Given the description of an element on the screen output the (x, y) to click on. 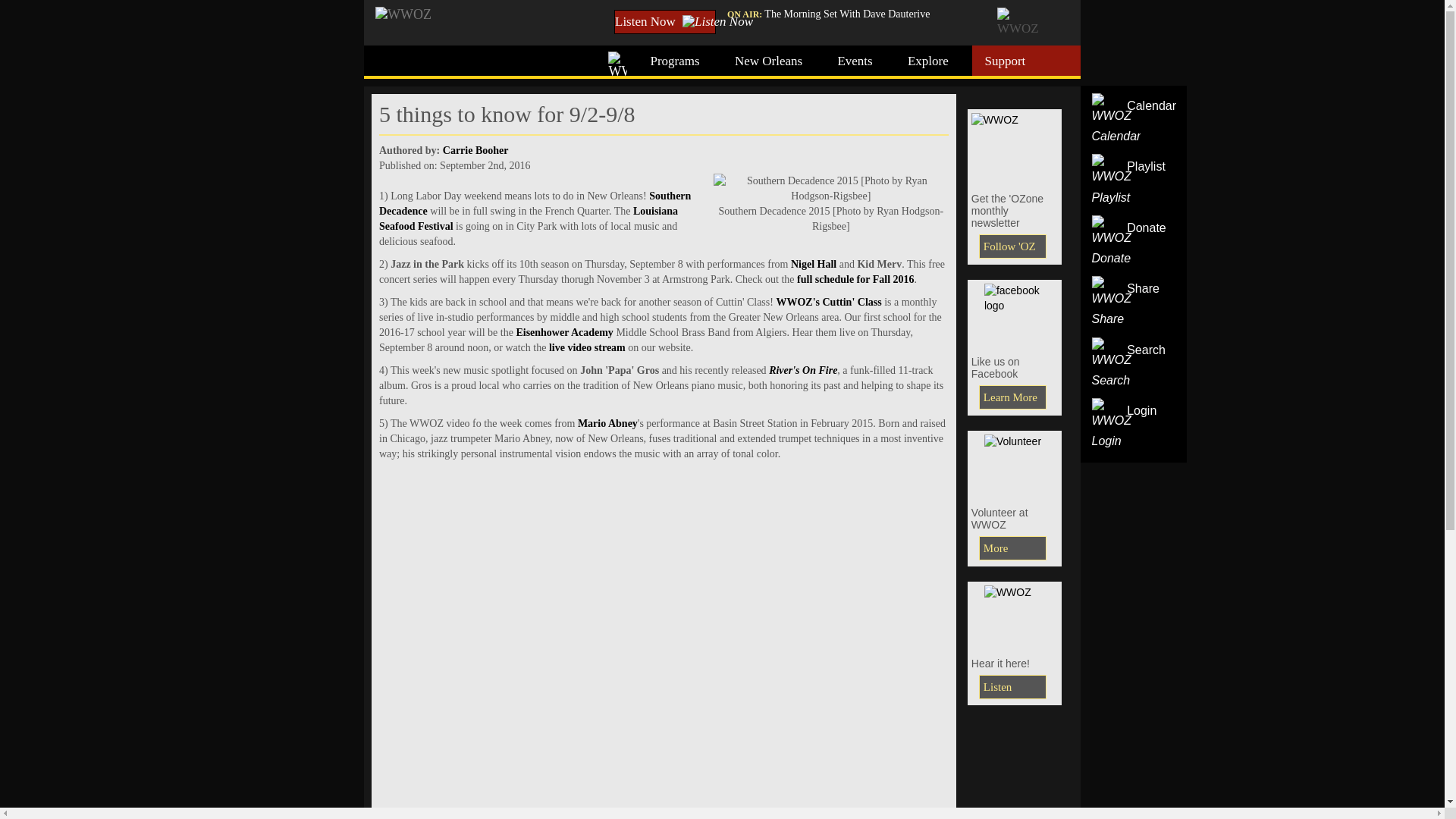
WWOZ Calendar (1116, 119)
Facebook (1012, 396)
Listen Live (1012, 686)
The Morning Set With Dave Dauterive (847, 13)
Get the 'OZone monthly newsletter (1014, 146)
Volunteer (1012, 548)
Facebook (1014, 314)
Listen Live (1014, 615)
Listen Now (665, 21)
Navy Guardians Tee (1014, 464)
Get the 'OZone monthly newsletter (1012, 246)
